Given the description of an element on the screen output the (x, y) to click on. 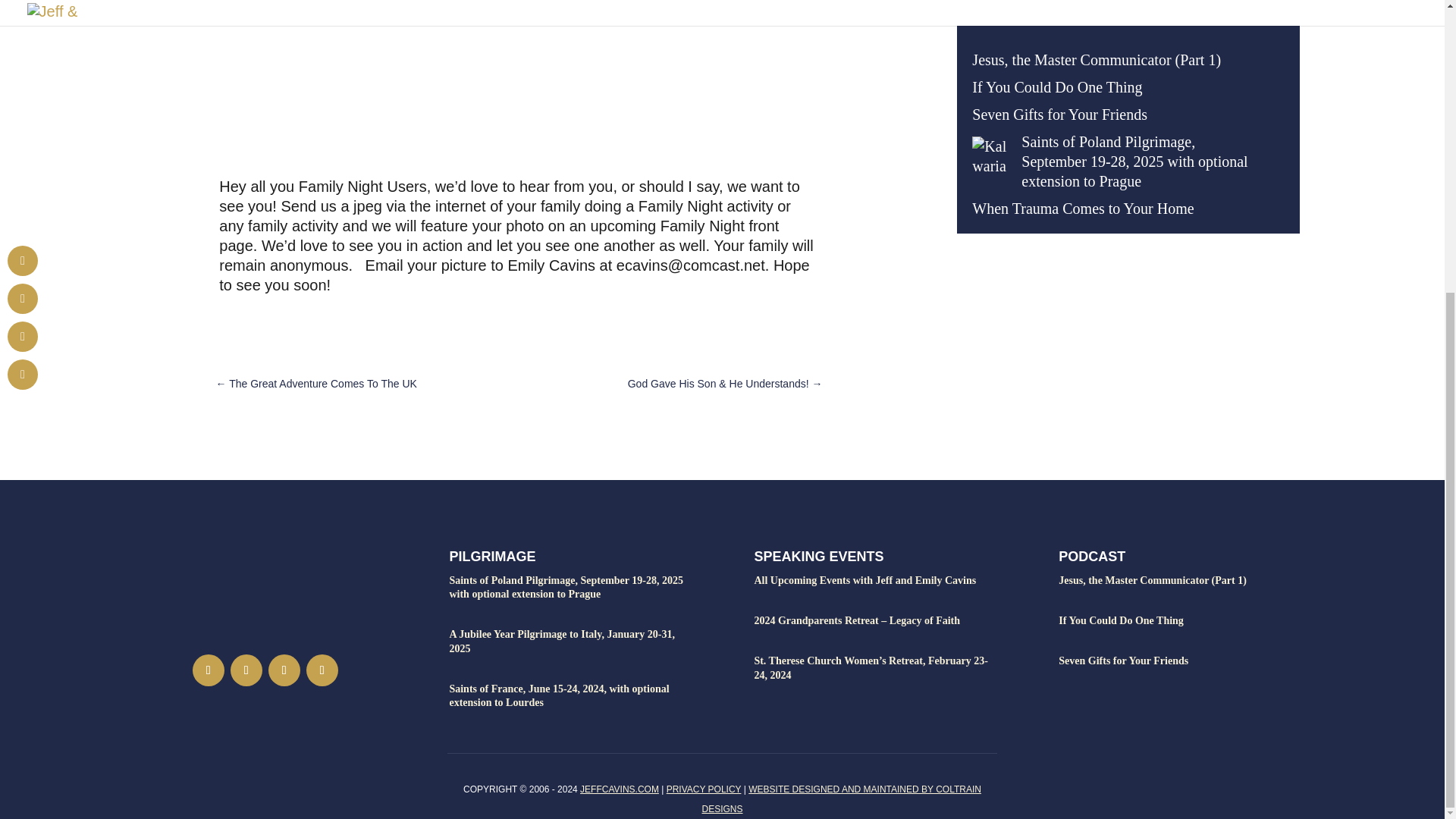
Follow on Youtube (321, 670)
Follow on Facebook (208, 670)
Follow on X (283, 670)
jeff cavins - logo white (264, 584)
Posts by Jeff Cavins (202, 3)
Follow on Instagram (246, 670)
